Given the description of an element on the screen output the (x, y) to click on. 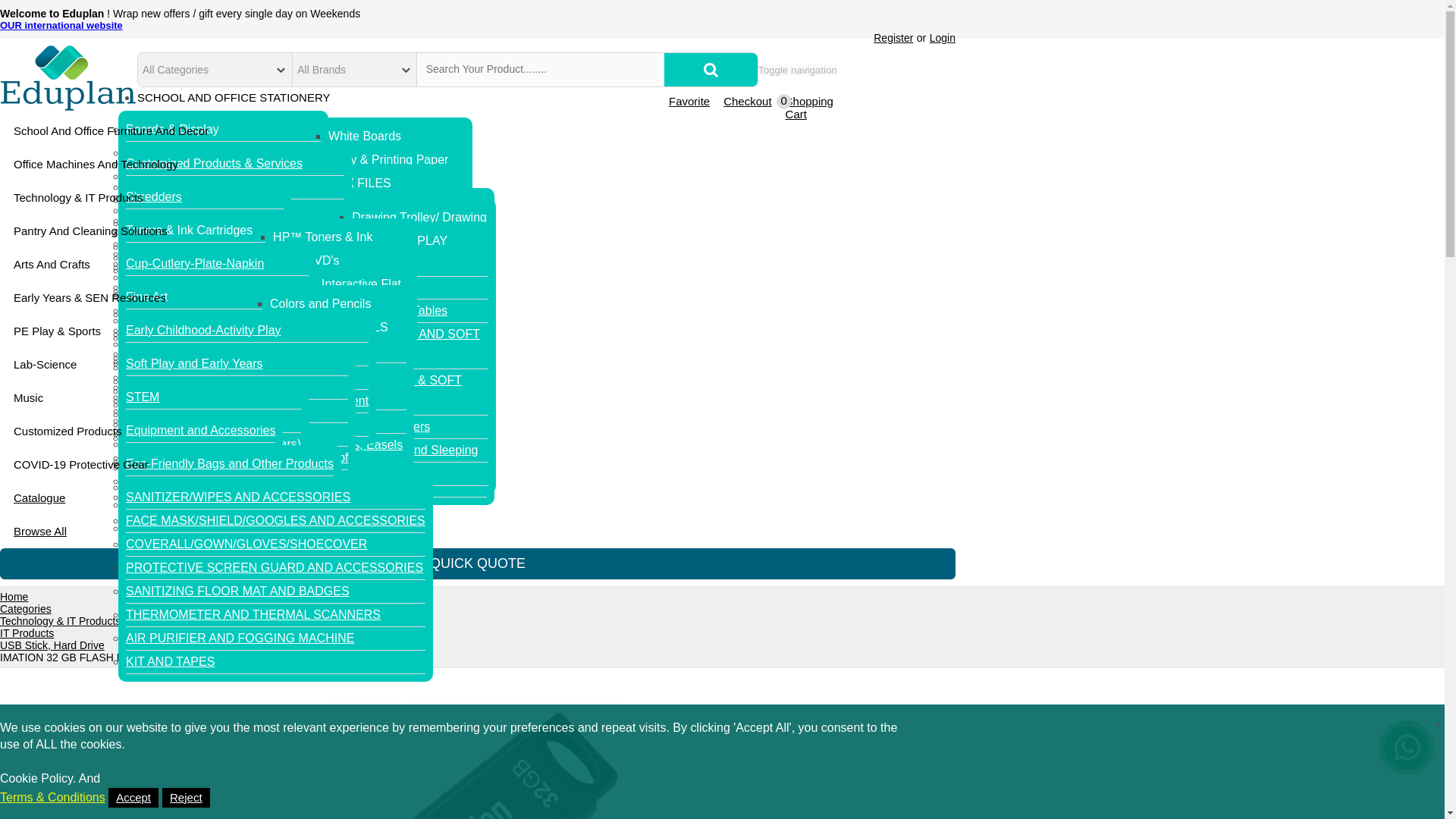
Login (942, 37)
Binding Machine (170, 220)
Shredders (153, 196)
Special Paper (366, 182)
Whatsapp (1406, 773)
Photo Frame (363, 229)
Pin and Cork Boards (385, 368)
L FOLDER (358, 347)
Toggle navigation (804, 70)
Register (892, 37)
Glass Boards (365, 344)
Register Books, Notebooks (371, 288)
DOCUMENT WALLET (389, 277)
OUR international website (61, 25)
Tapes, Tape Dispenser (186, 293)
